Given the description of an element on the screen output the (x, y) to click on. 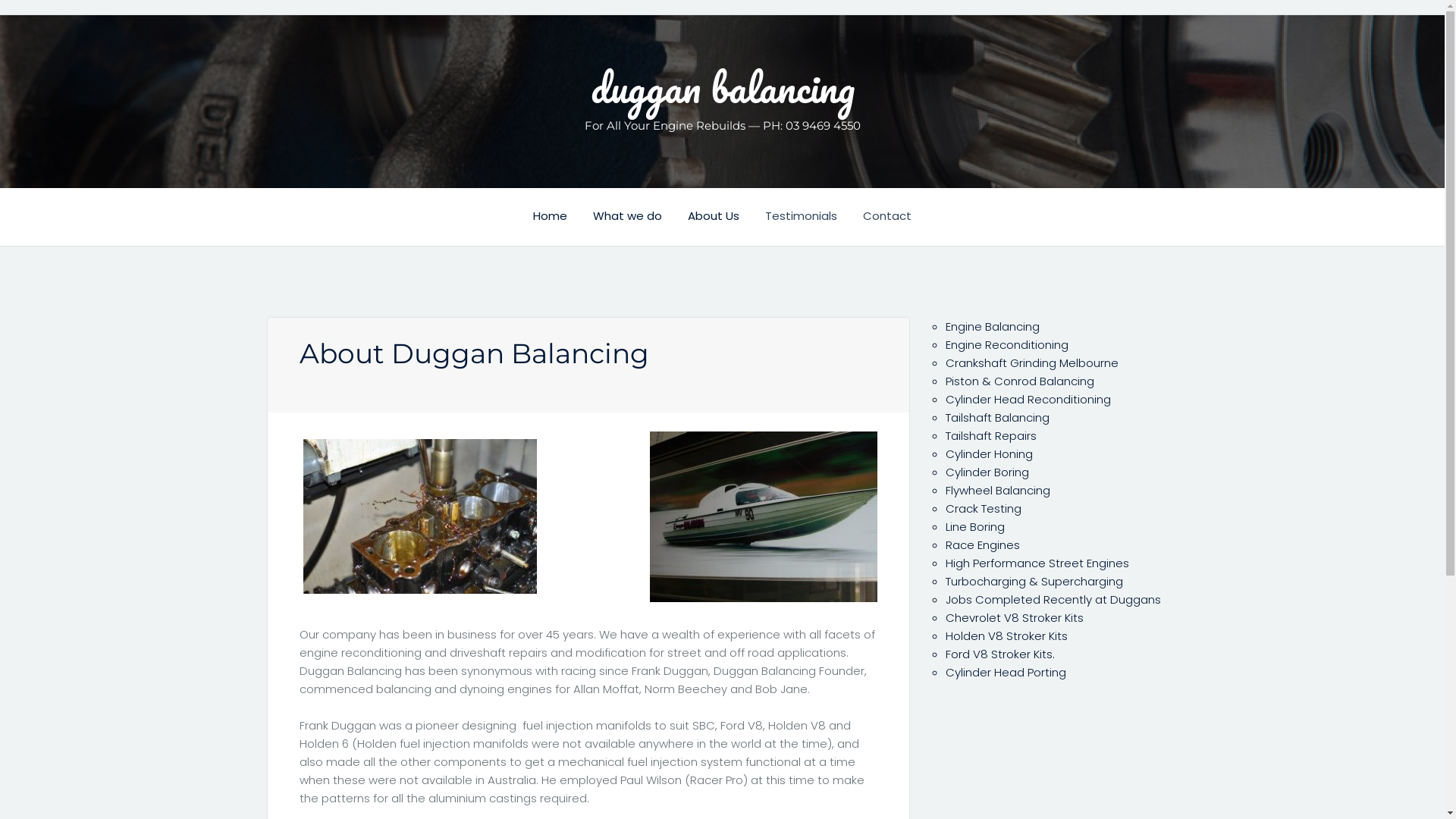
Engine Reconditioning Element type: text (1005, 344)
Holden V8 Stroker Kits Element type: text (1005, 635)
Line Boring Element type: text (974, 526)
Race Engines Element type: text (981, 544)
Crankshaft Grinding Melbourne Element type: text (1030, 362)
Contact Element type: text (886, 214)
Flywheel Balancing Element type: text (996, 490)
About Us Element type: text (724, 214)
What we do Element type: text (638, 214)
Cylinder Head Reconditioning Element type: text (1027, 399)
Turbocharging & Supercharging Element type: text (1033, 581)
duggan balancing Element type: text (721, 87)
Cylinder Boring Element type: text (986, 472)
Engine Balancing Element type: text (991, 326)
High Performance Street Engines Element type: text (1036, 563)
Piston & Conrod Balancing Element type: text (1018, 381)
Cylinder Head Porting Element type: text (1004, 672)
Testimonials Element type: text (812, 214)
Tailshaft Balancing Element type: text (996, 417)
Ford V8 Stroker Kits. Element type: text (999, 654)
Tailshaft Repairs Element type: text (989, 435)
Crack Testing Element type: text (982, 508)
Cylinder Honing Element type: text (988, 453)
Jobs Completed Recently at Duggans Element type: text (1052, 599)
Chevrolet V8 Stroker Kits Element type: text (1013, 617)
Home Element type: text (561, 214)
